Given the description of an element on the screen output the (x, y) to click on. 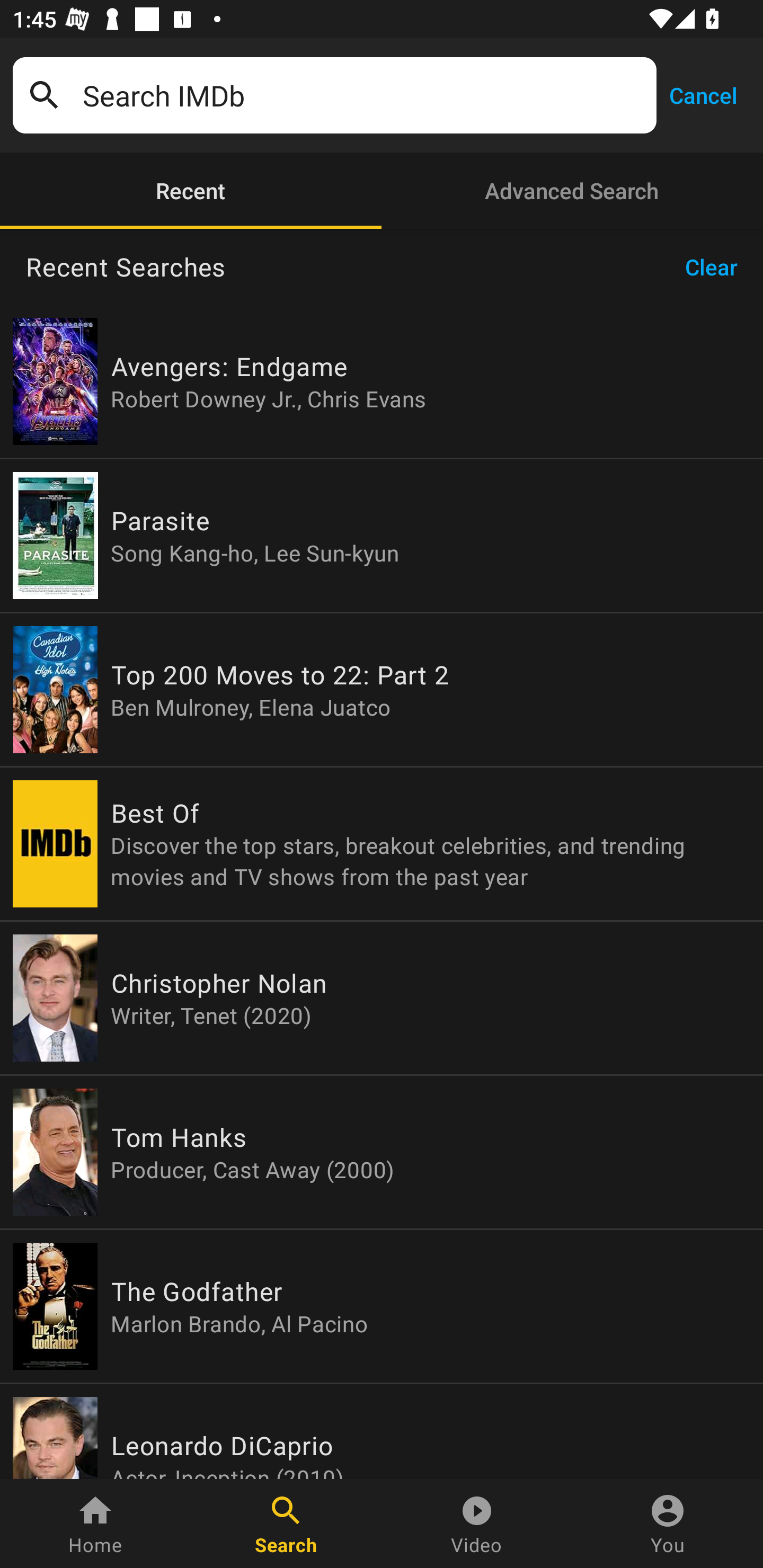
Cancel (703, 94)
Search IMDb (363, 95)
Advanced Search (572, 190)
Clear (717, 266)
Avengers: Endgame Robert Downey Jr., Chris Evans (381, 381)
Parasite Song Kang-ho, Lee Sun-kyun (381, 535)
Christopher Nolan Writer, Tenet (2020) (381, 997)
Tom Hanks Producer, Cast Away (2000) (381, 1151)
The Godfather Marlon Brando, Al Pacino (381, 1305)
Leonardo DiCaprio Actor, Inception (2010) (381, 1431)
Home (95, 1523)
Video (476, 1523)
You (667, 1523)
